Given the description of an element on the screen output the (x, y) to click on. 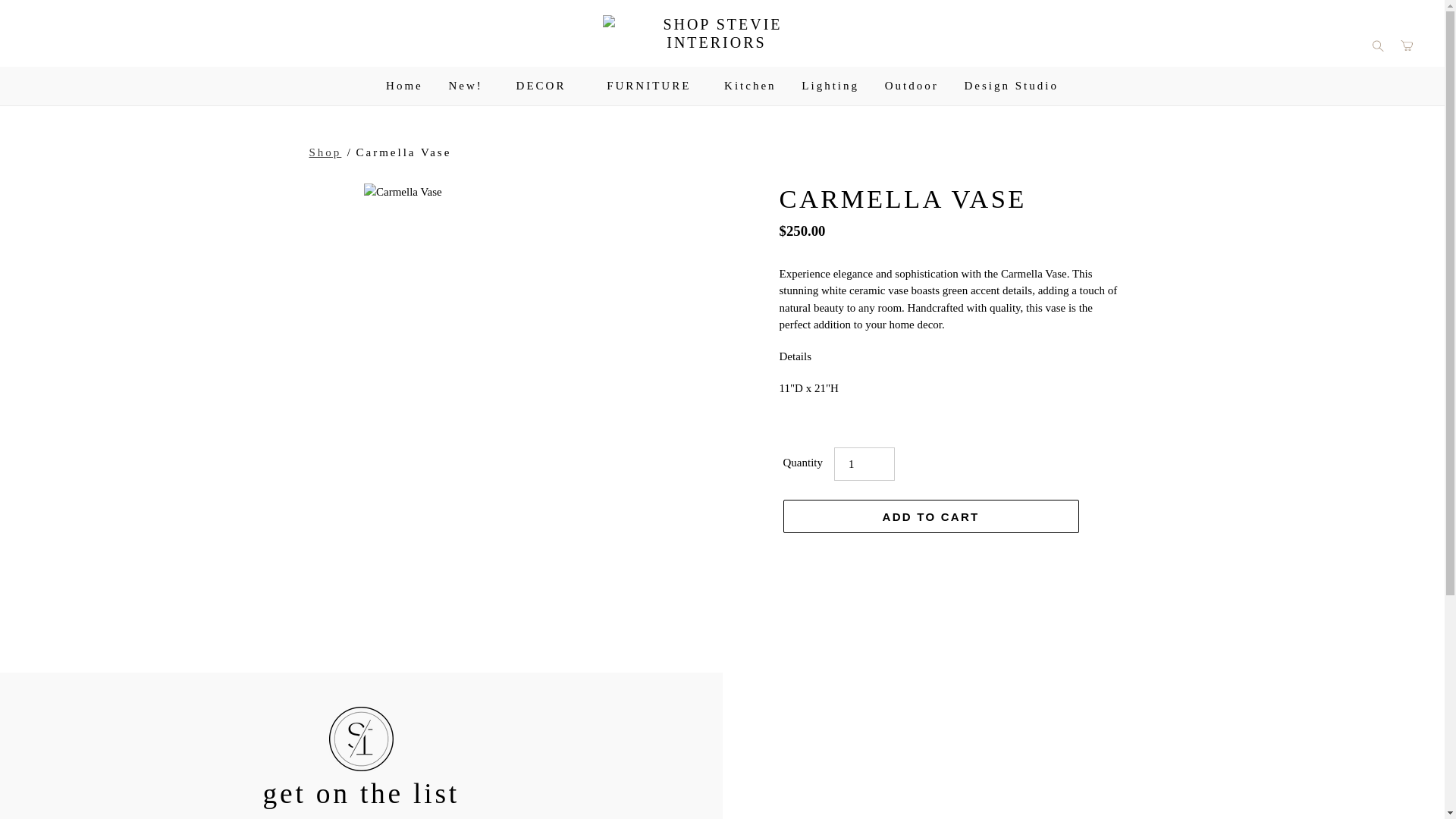
1 (864, 463)
SEARCH (1376, 43)
Cart (1406, 44)
